Given the description of an element on the screen output the (x, y) to click on. 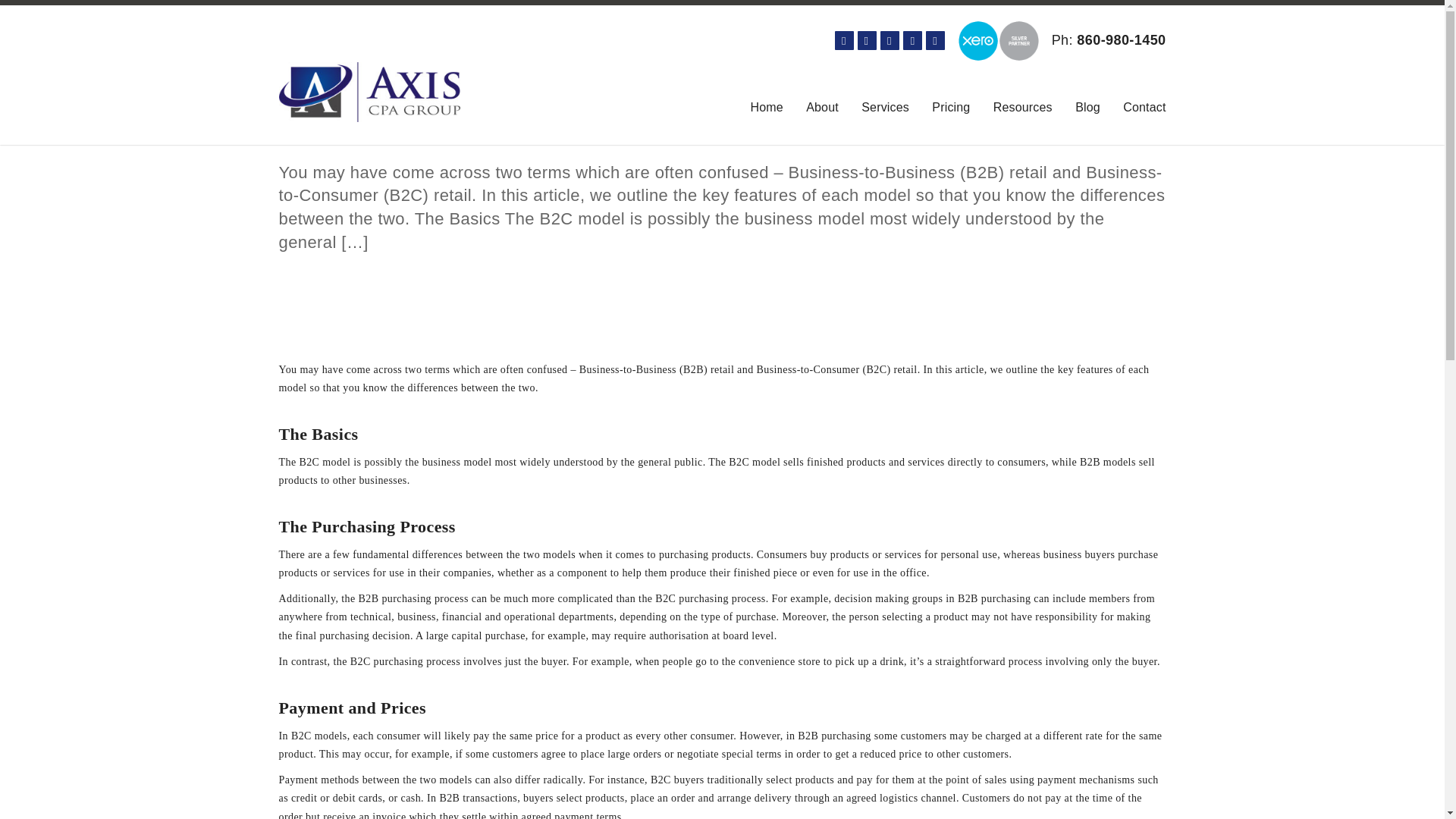
Contact (1144, 107)
About (822, 107)
Home (766, 107)
twitter (935, 40)
Services (884, 107)
Linkedin (889, 40)
01-Aug-2018 (448, 134)
facebook (843, 40)
Resources (1022, 107)
skype (911, 40)
Google Plus (866, 40)
Pricing (950, 107)
Blog (1087, 107)
